Given the description of an element on the screen output the (x, y) to click on. 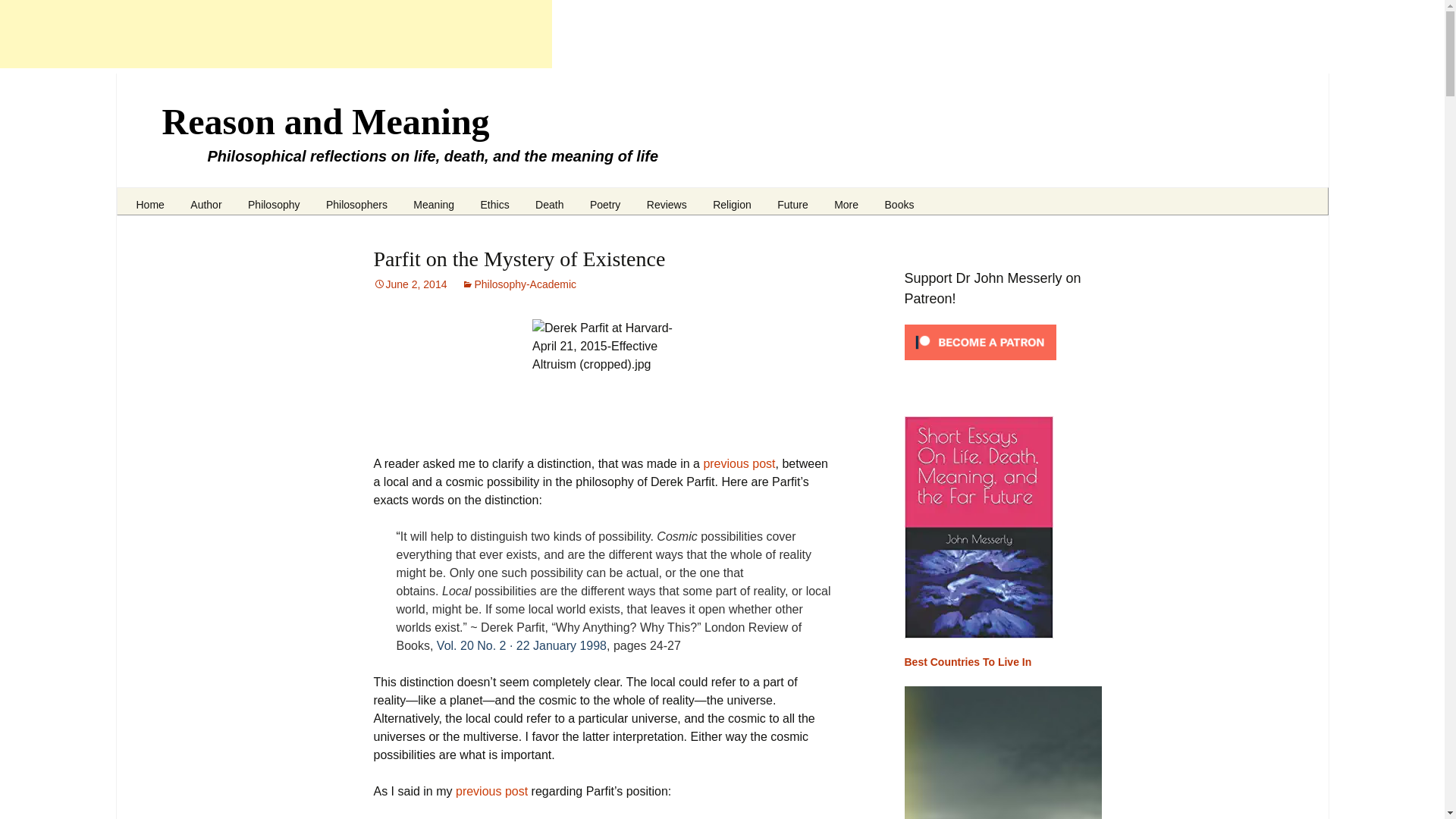
Home (148, 199)
Author (205, 199)
Advertisement (275, 33)
How To Help (254, 221)
Permalink to Parfit on the Mystery of Existence (409, 284)
